Given the description of an element on the screen output the (x, y) to click on. 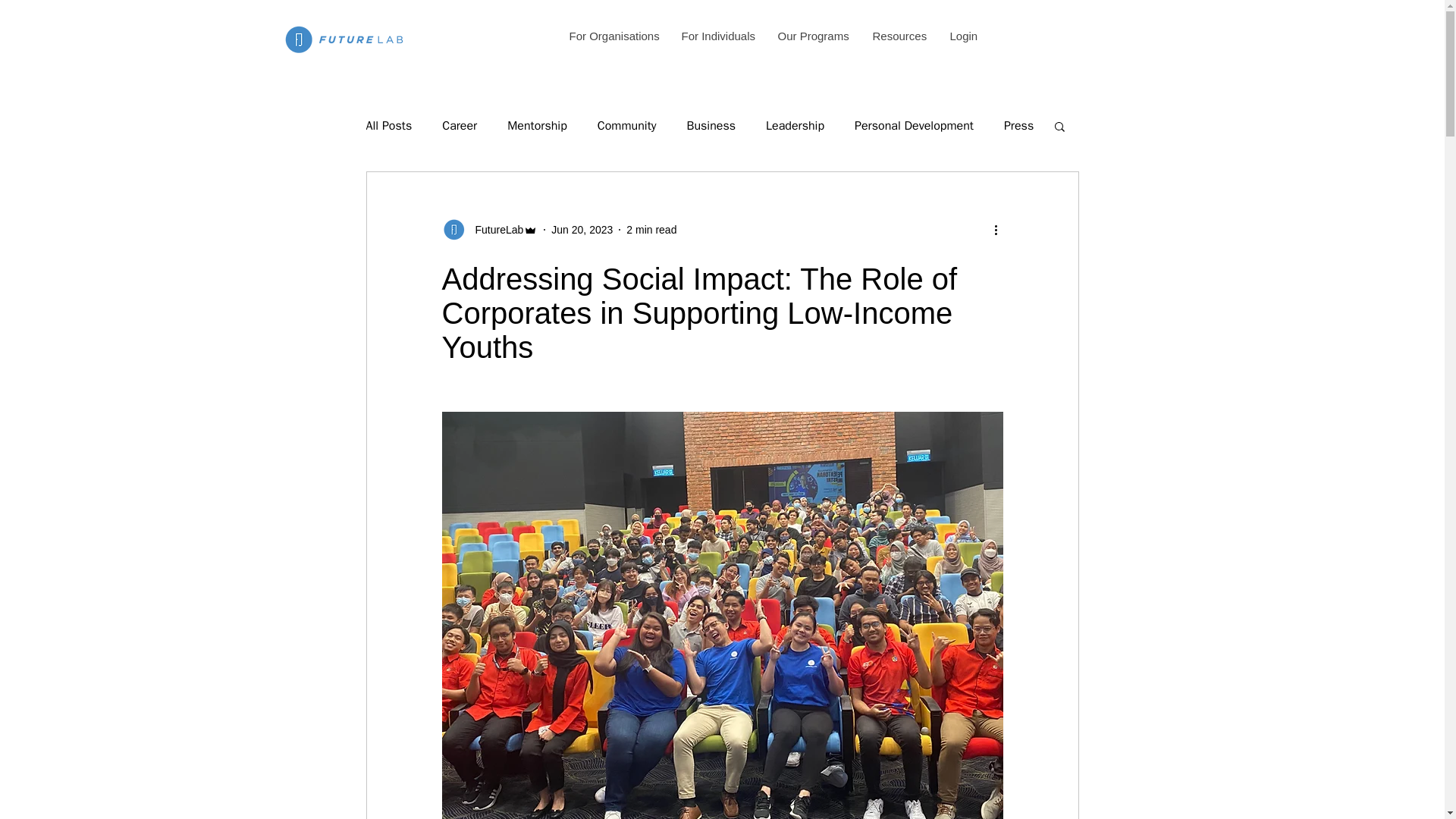
Leadership (794, 125)
For Organisations (613, 36)
FutureLab (489, 229)
Career (459, 125)
Our Programs (812, 36)
Business (710, 125)
2 min read (651, 228)
All Posts (388, 125)
Personal Development (914, 125)
Mentorship (536, 125)
Jun 20, 2023 (581, 228)
Login (962, 36)
FutureLab (493, 229)
For Individuals (716, 36)
Community (626, 125)
